Given the description of an element on the screen output the (x, y) to click on. 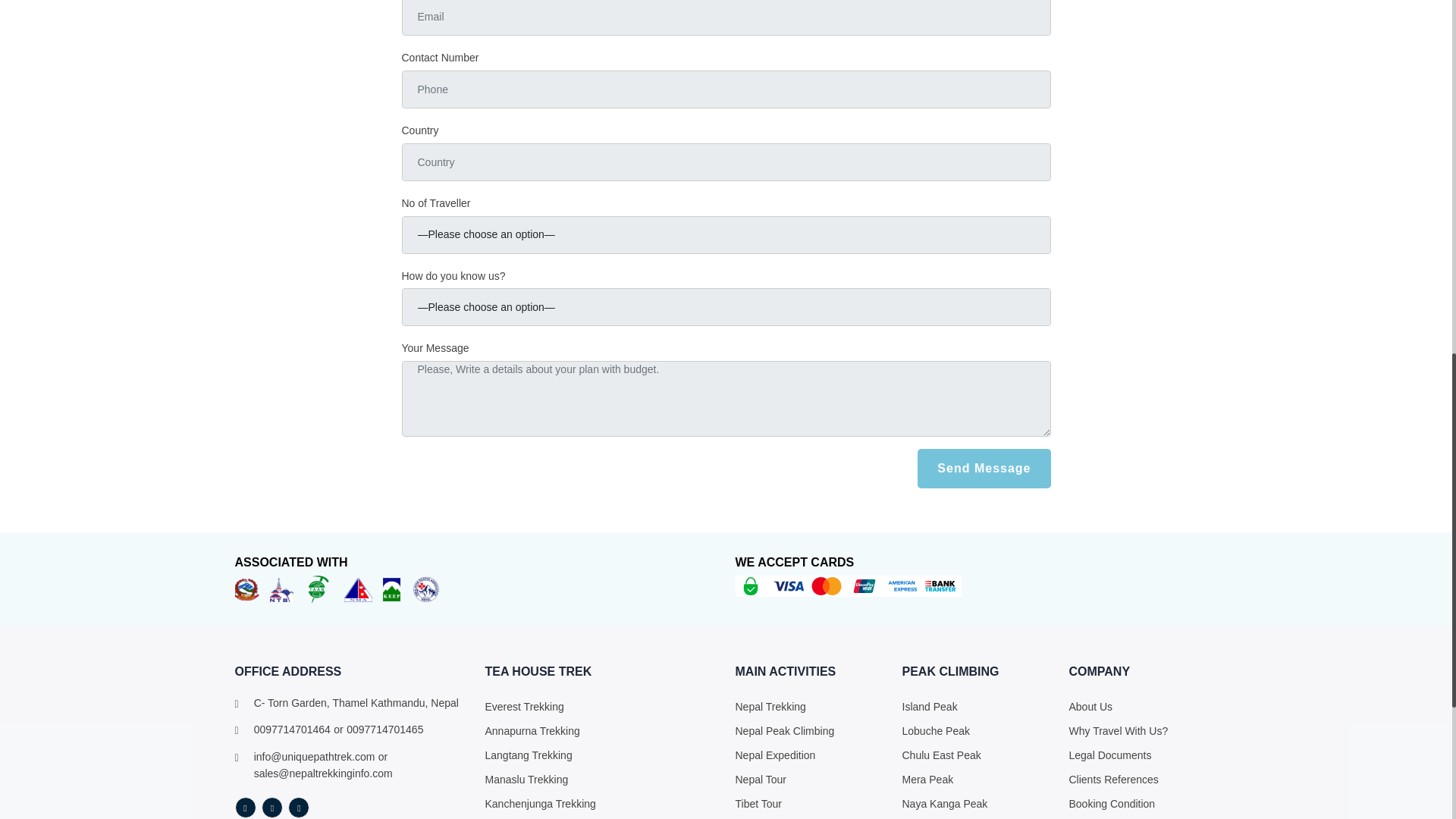
Kathmandu Environmental Education Project (391, 588)
Nepal Government (246, 588)
Nepal Mountaineering Association (357, 588)
Trekking Agencies' Association of Nepal (318, 588)
Send Message (983, 468)
Himalayan Rescue Association Nepal (426, 588)
Nepal Tourism Board (281, 588)
